Given the description of an element on the screen output the (x, y) to click on. 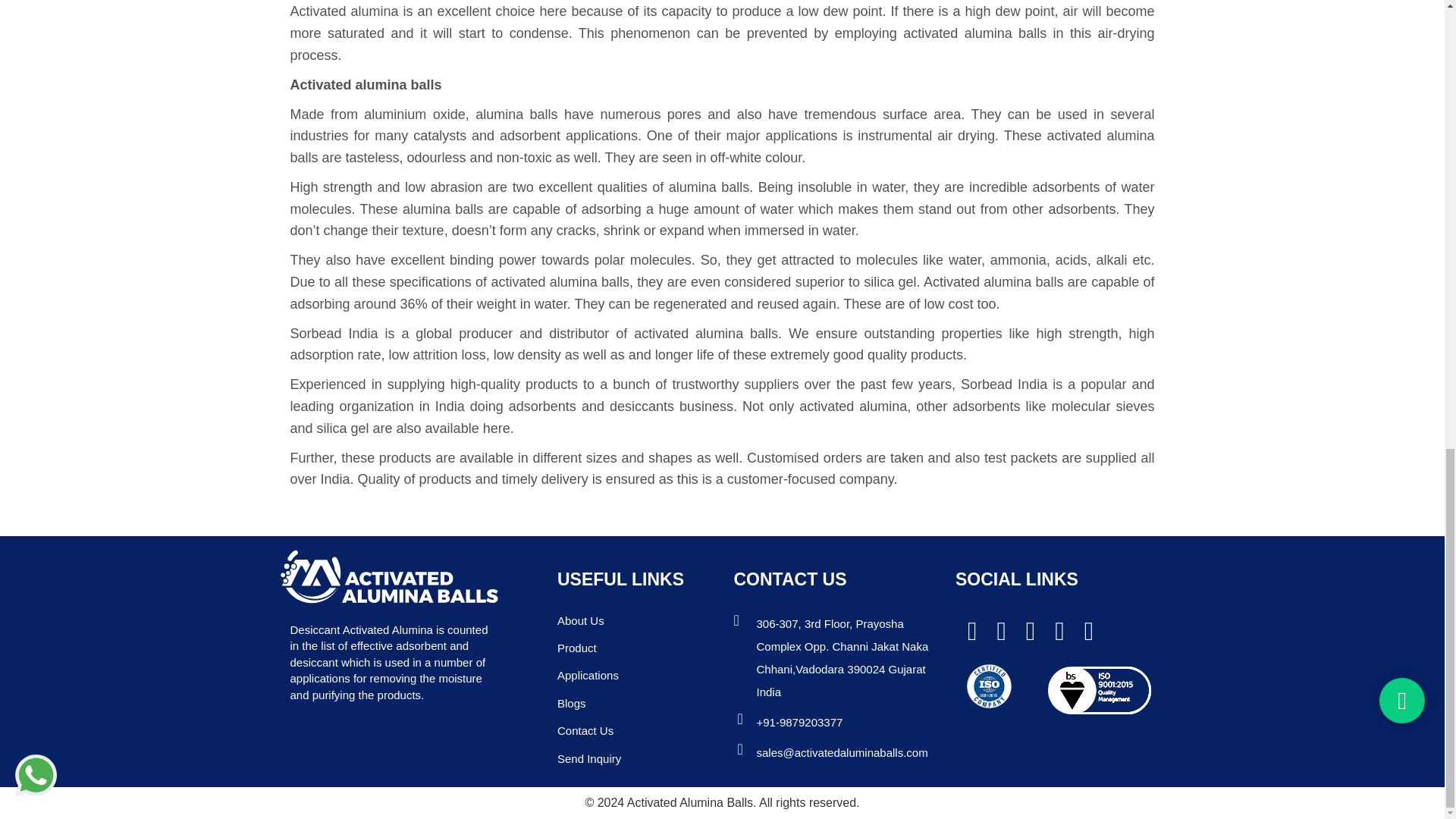
About Us (580, 620)
